Given the description of an element on the screen output the (x, y) to click on. 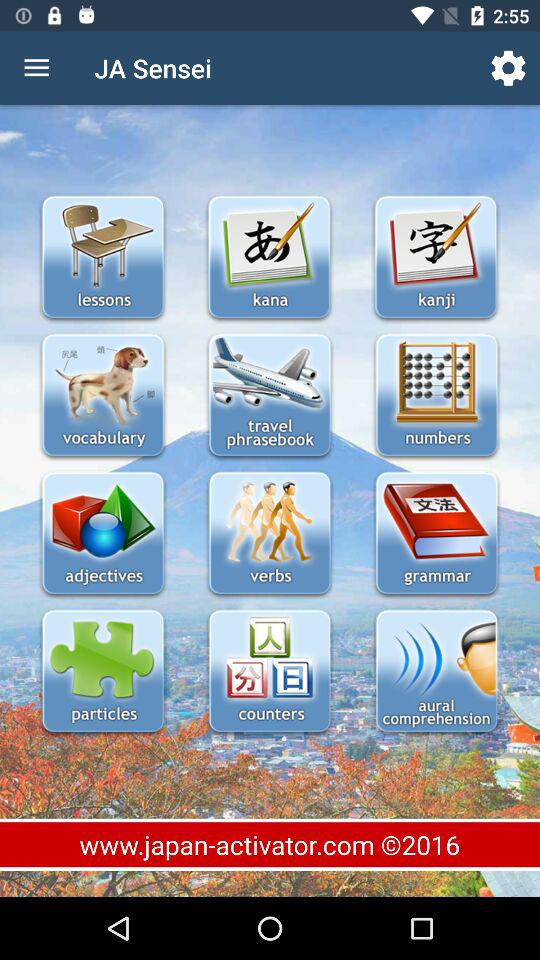
travel phrasebook (269, 396)
